Given the description of an element on the screen output the (x, y) to click on. 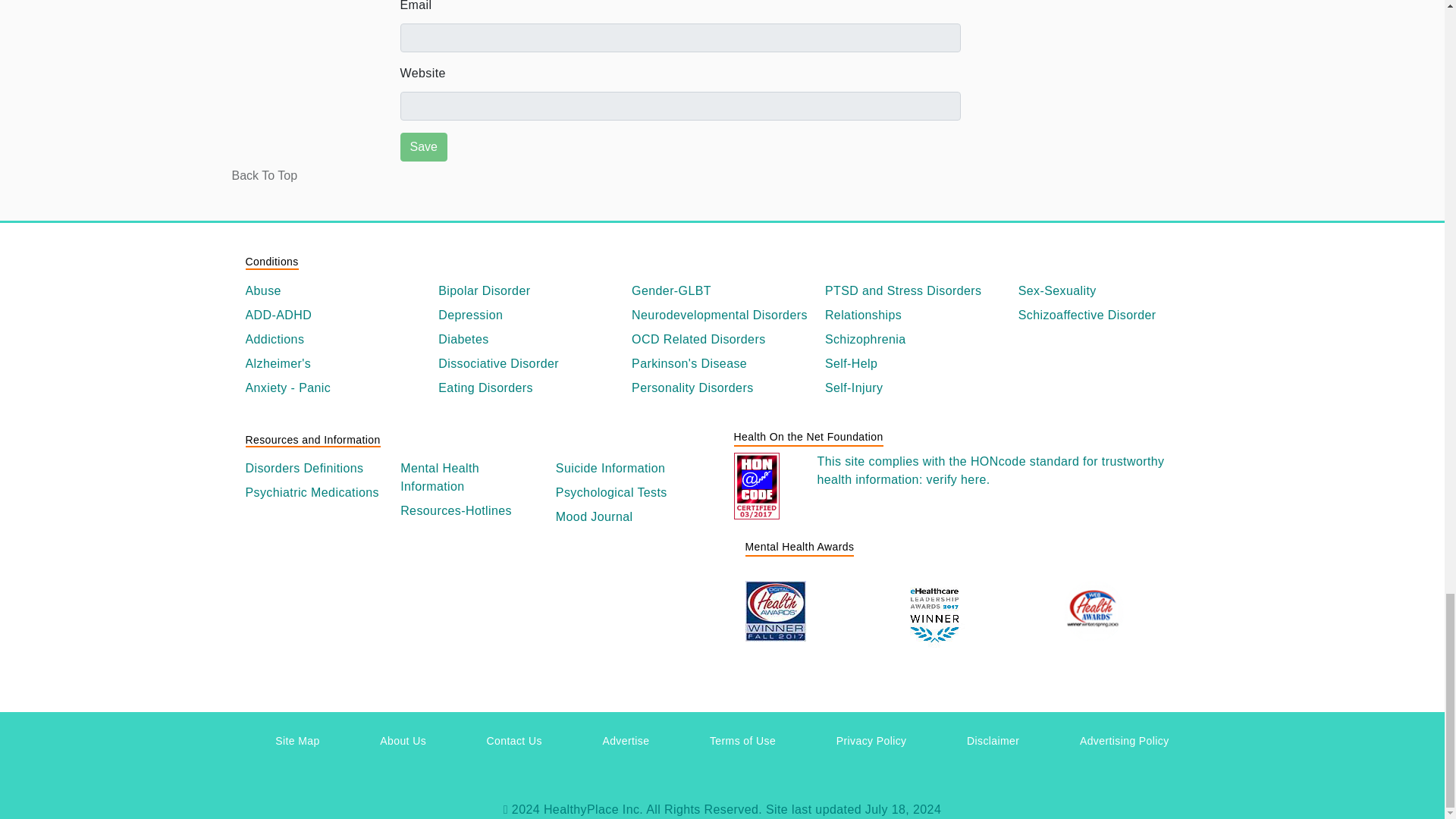
Parkinson's Disease Information Articles (721, 363)
